Given the description of an element on the screen output the (x, y) to click on. 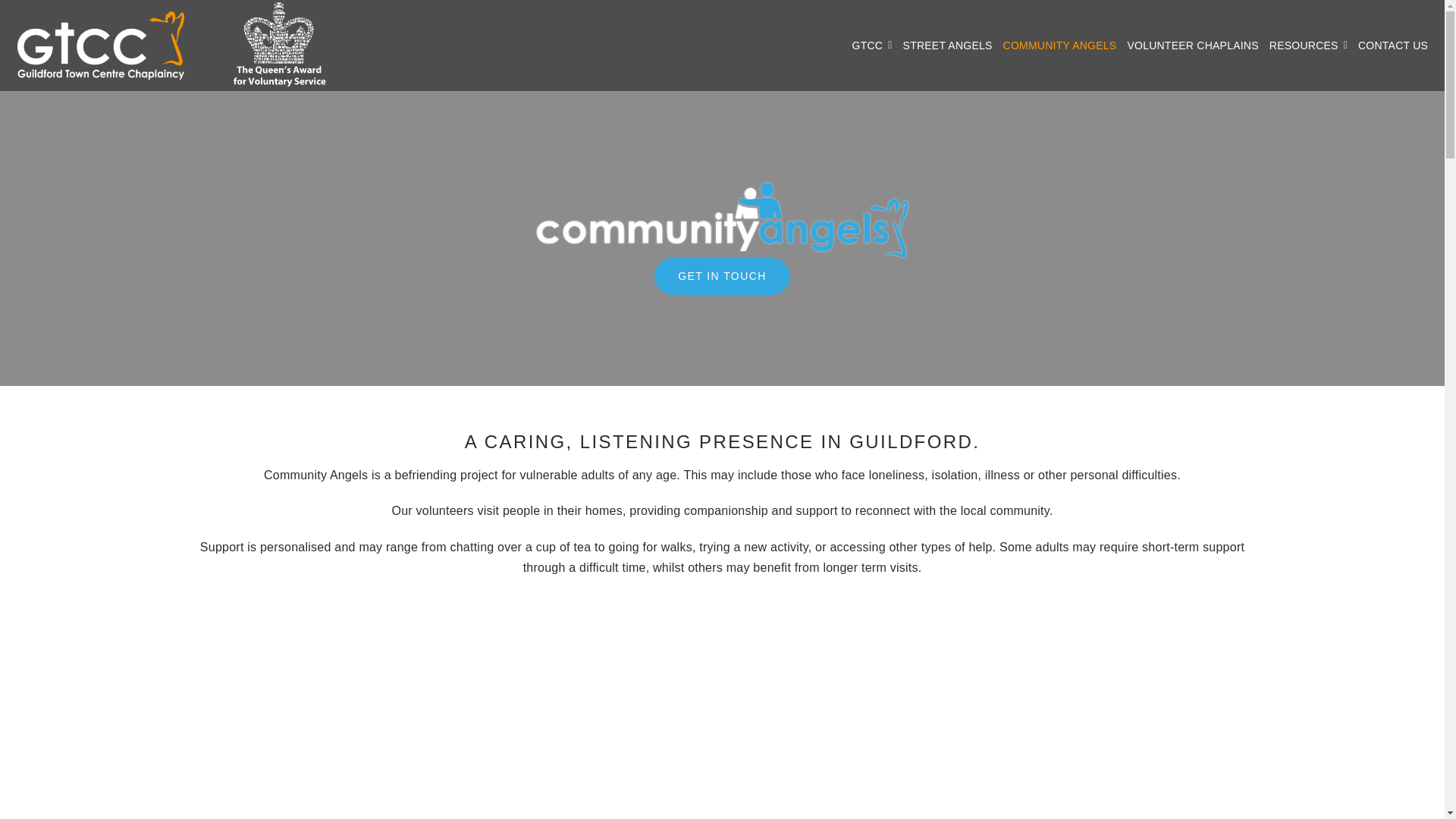
COMMUNITY ANGELS (1059, 45)
RESOURCES (1308, 45)
VOLUNTEER CHAPLAINS (1191, 45)
GTCC Community Angels (721, 219)
CONTACT US (1393, 45)
STREET ANGELS (947, 45)
GTCC (871, 45)
GET IN TOUCH (721, 275)
